Given the description of an element on the screen output the (x, y) to click on. 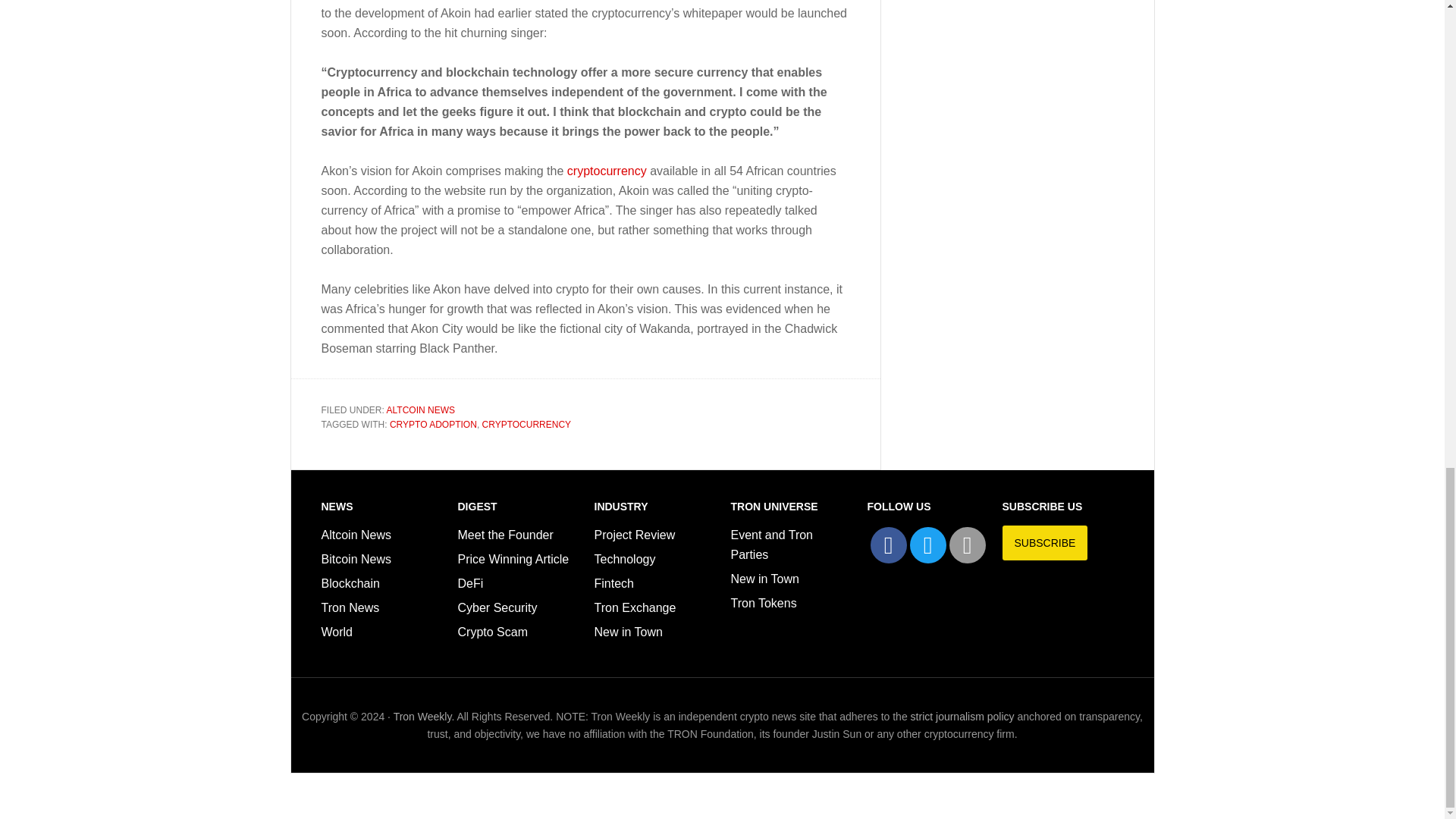
CRYPTOCURRENCY (526, 424)
Telegram (967, 545)
ALTCOIN NEWS (420, 409)
Facebook (888, 545)
Altcoin News (356, 534)
Twitter (928, 545)
CRYPTO ADOPTION (433, 424)
cryptocurrency (604, 170)
